Given the description of an element on the screen output the (x, y) to click on. 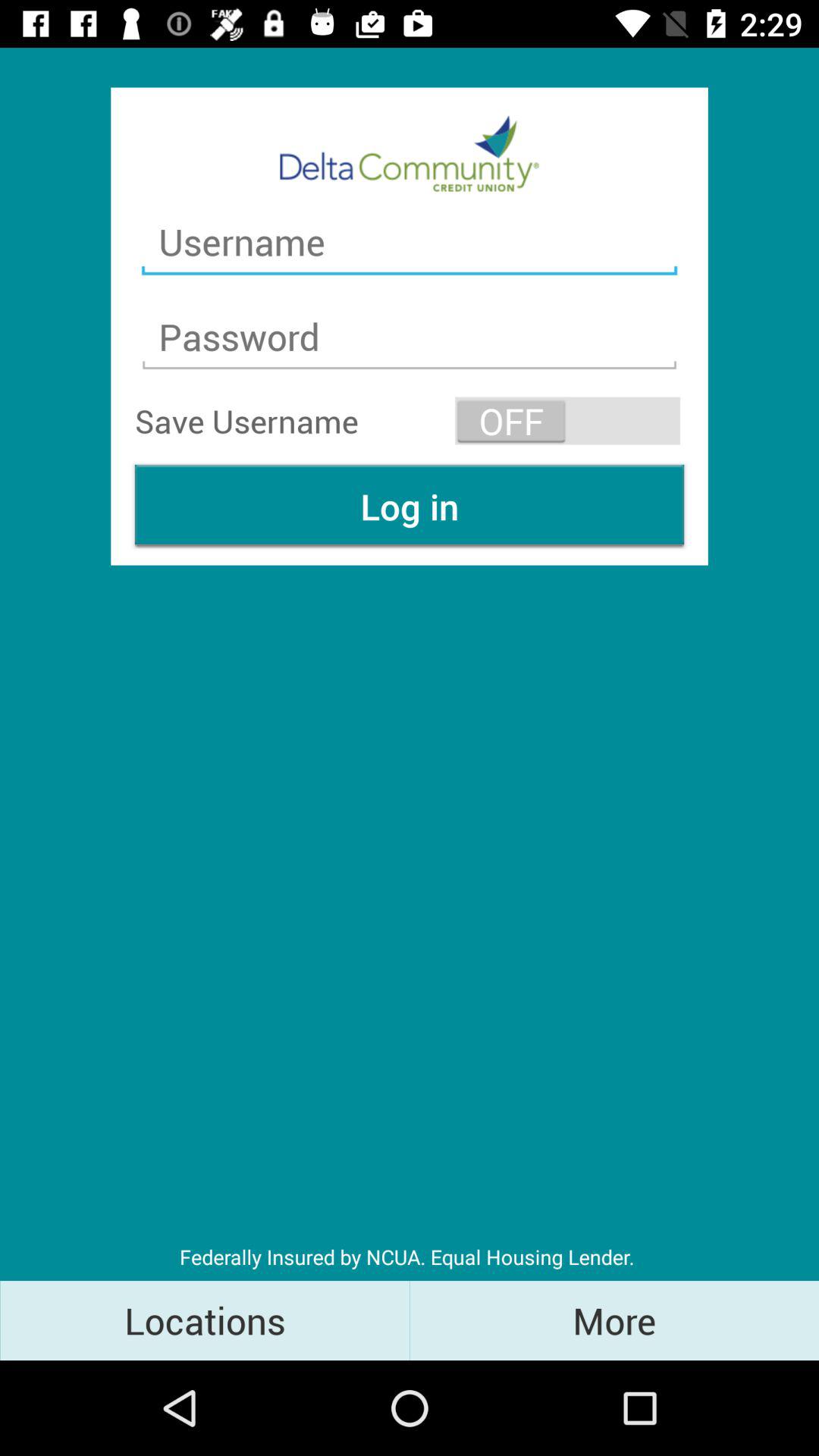
swipe until the locations item (204, 1320)
